Given the description of an element on the screen output the (x, y) to click on. 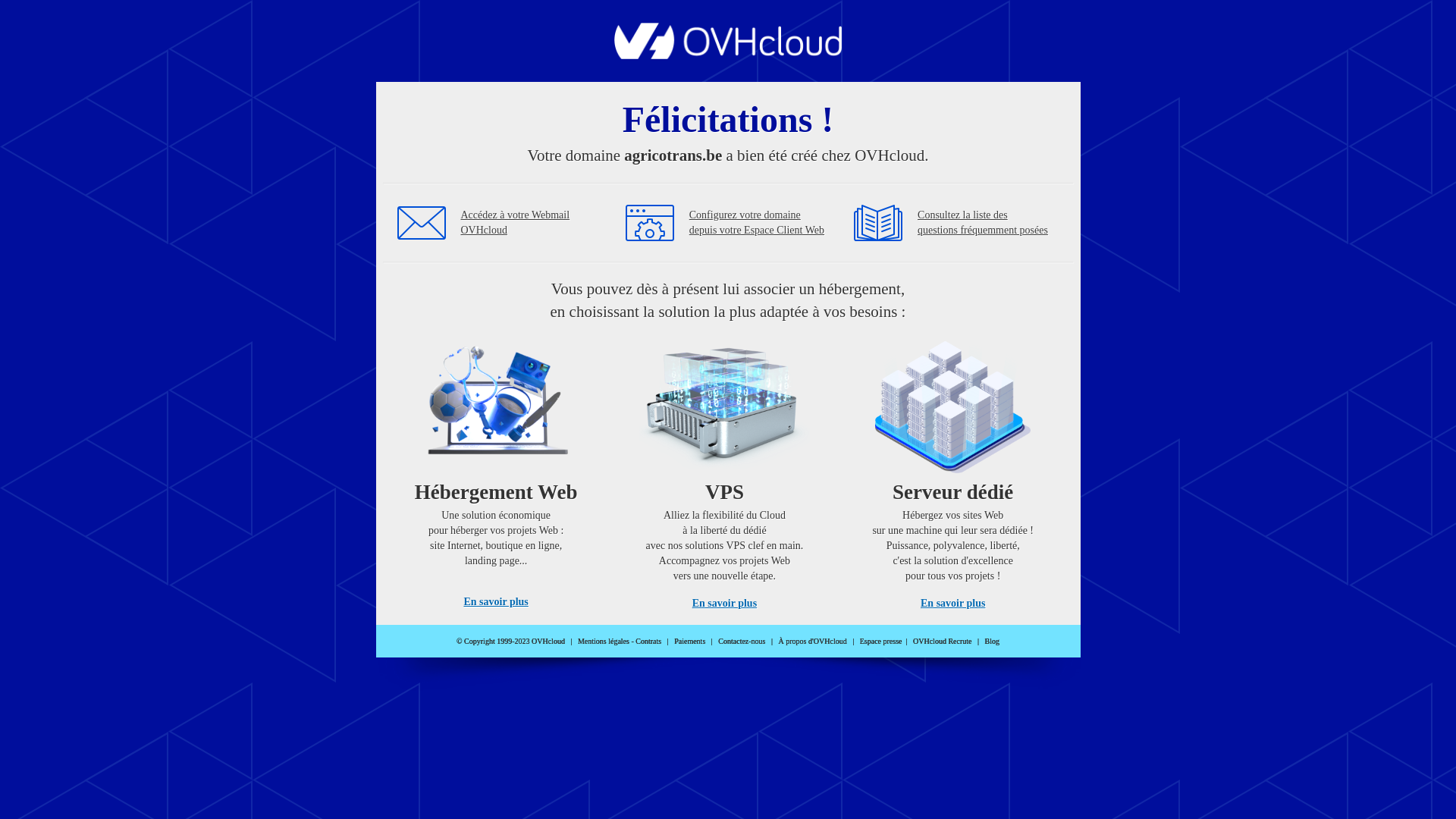
Configurez votre domaine
depuis votre Espace Client Web Element type: text (756, 222)
VPS Element type: hover (724, 469)
Blog Element type: text (992, 641)
En savoir plus Element type: text (724, 602)
OVHcloud Recrute Element type: text (942, 641)
En savoir plus Element type: text (495, 601)
Paiements Element type: text (689, 641)
OVHcloud Element type: hover (727, 54)
Espace presse Element type: text (880, 641)
Contactez-nous Element type: text (741, 641)
En savoir plus Element type: text (952, 602)
